Given the description of an element on the screen output the (x, y) to click on. 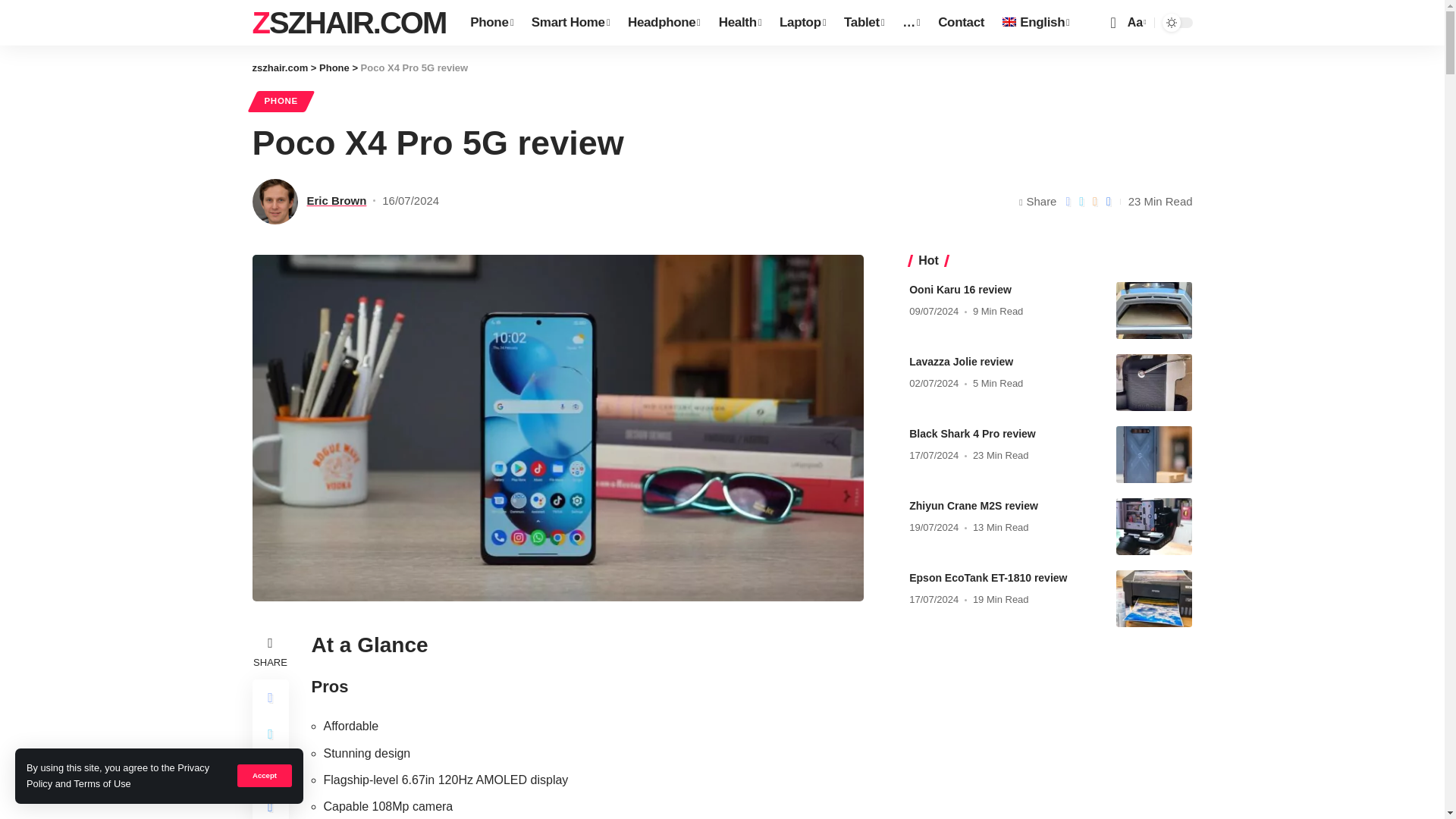
zszhair.com (348, 22)
ZSZHAIR.COM (348, 22)
Smart Home (570, 22)
Accept (264, 775)
Headphone (664, 22)
Phone (491, 22)
Health (740, 22)
